Given the description of an element on the screen output the (x, y) to click on. 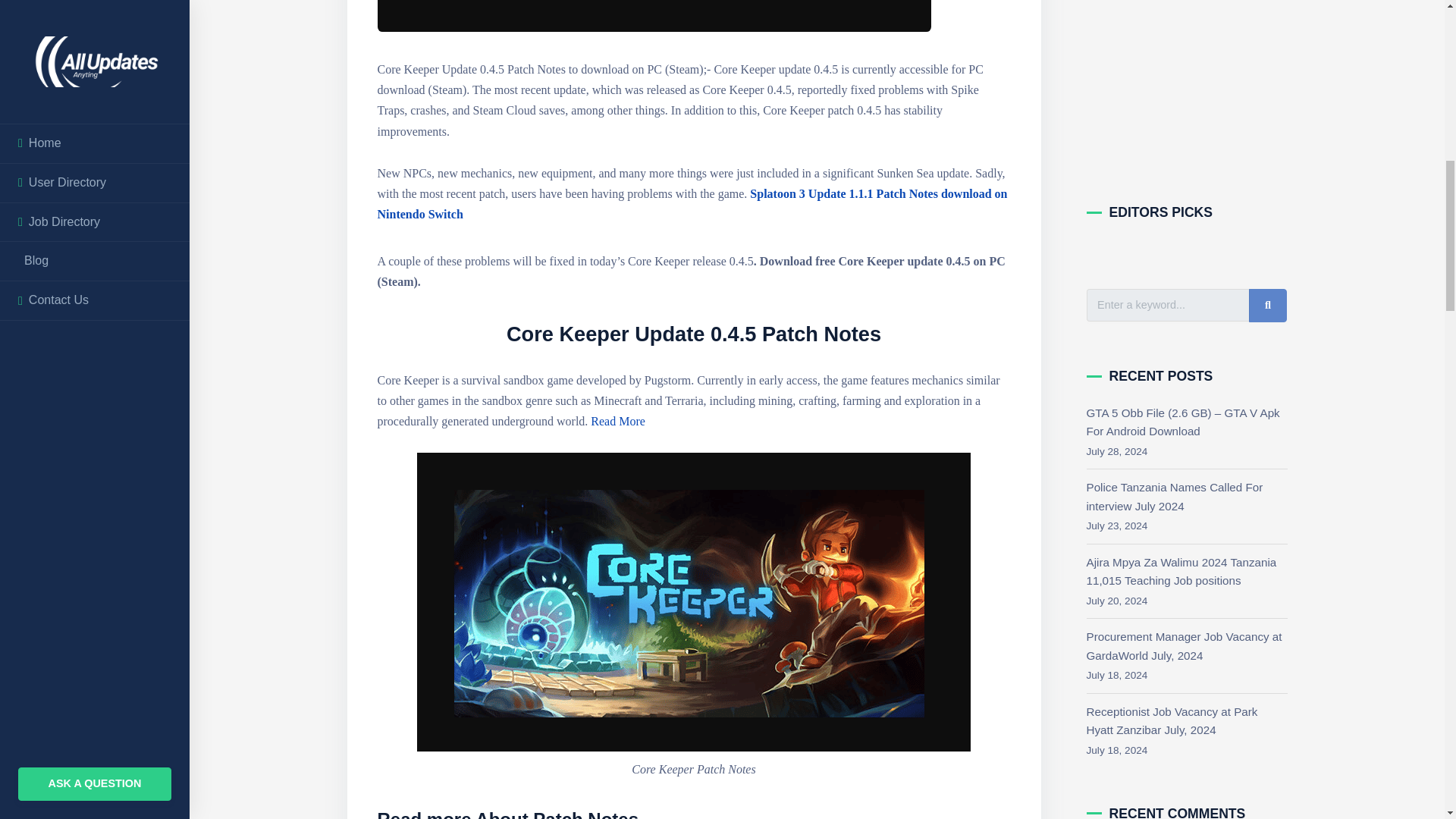
Receptionist Job Vacancy at Park Hyatt Zanzibar July, 2024 (1171, 720)
Advertisement (1186, 79)
Procurement Manager Job Vacancy at GardaWorld July, 2024 (1183, 644)
Read More  (619, 420)
Police Tanzania Names Called For interview July 2024 (1174, 495)
